Given the description of an element on the screen output the (x, y) to click on. 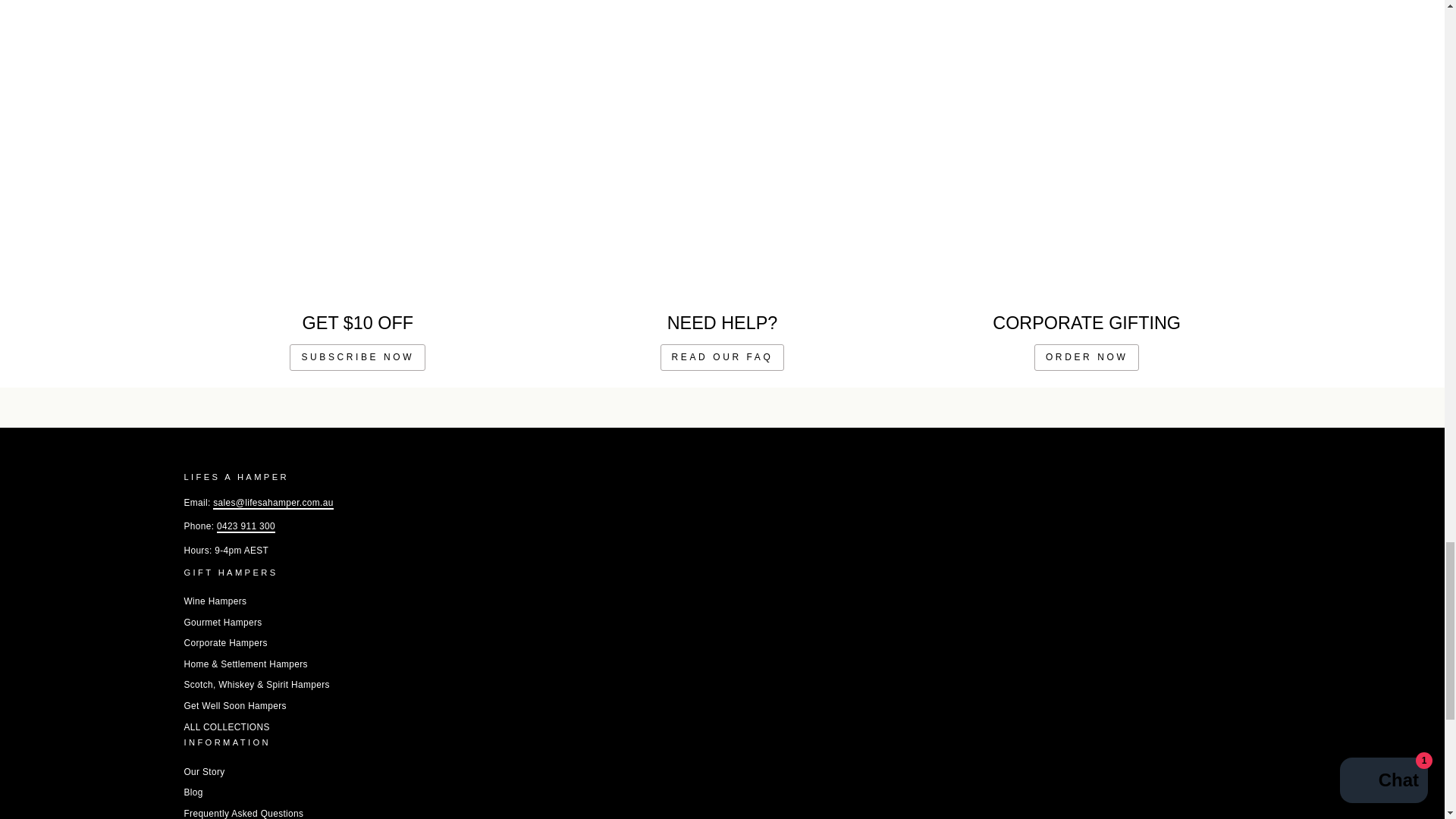
tel:0423 911 300 (245, 526)
